Given the description of an element on the screen output the (x, y) to click on. 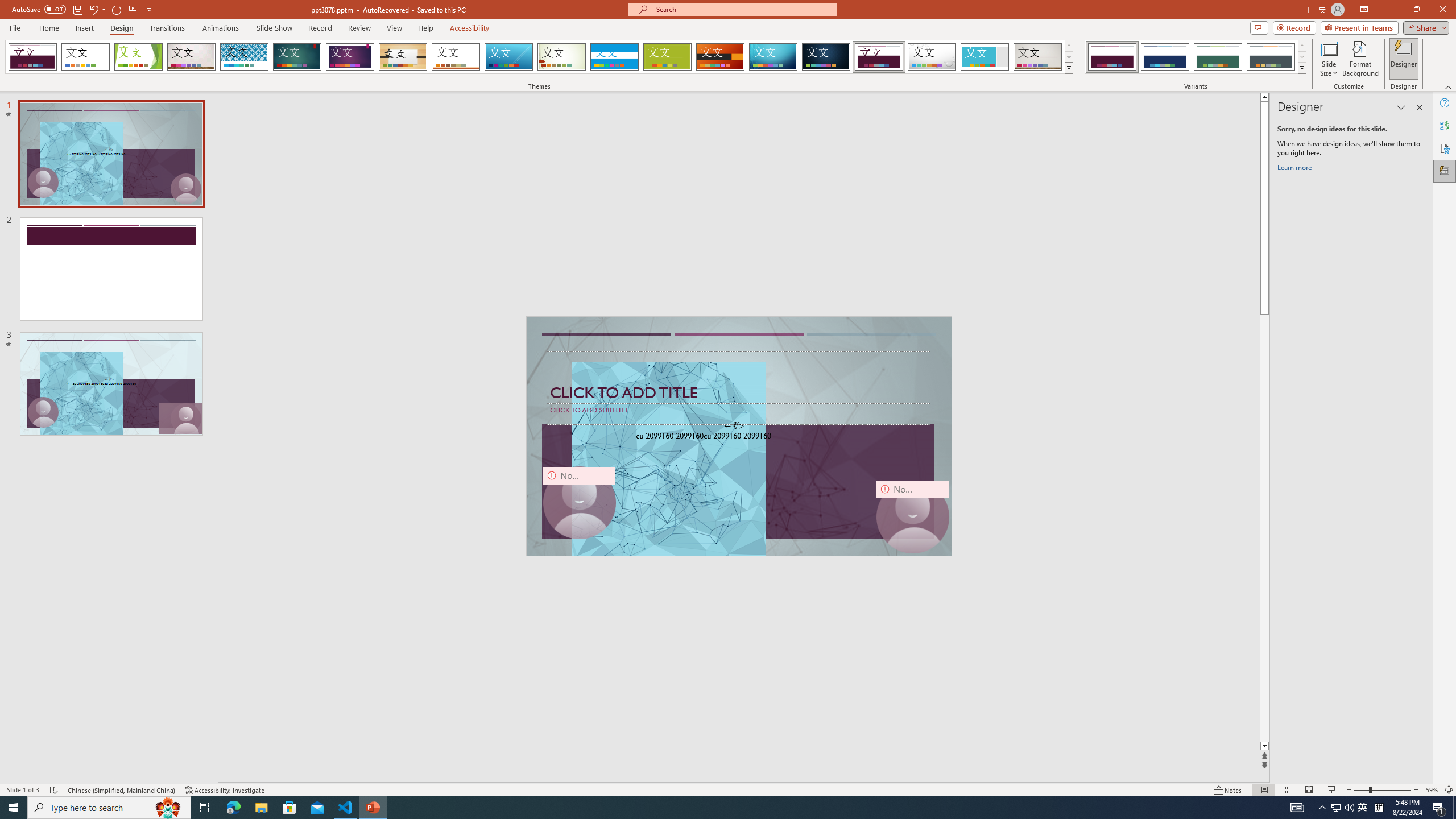
Dividend Variant 4 (1270, 56)
TextBox 61 (737, 437)
Ion Boardroom (350, 56)
